Given the description of an element on the screen output the (x, y) to click on. 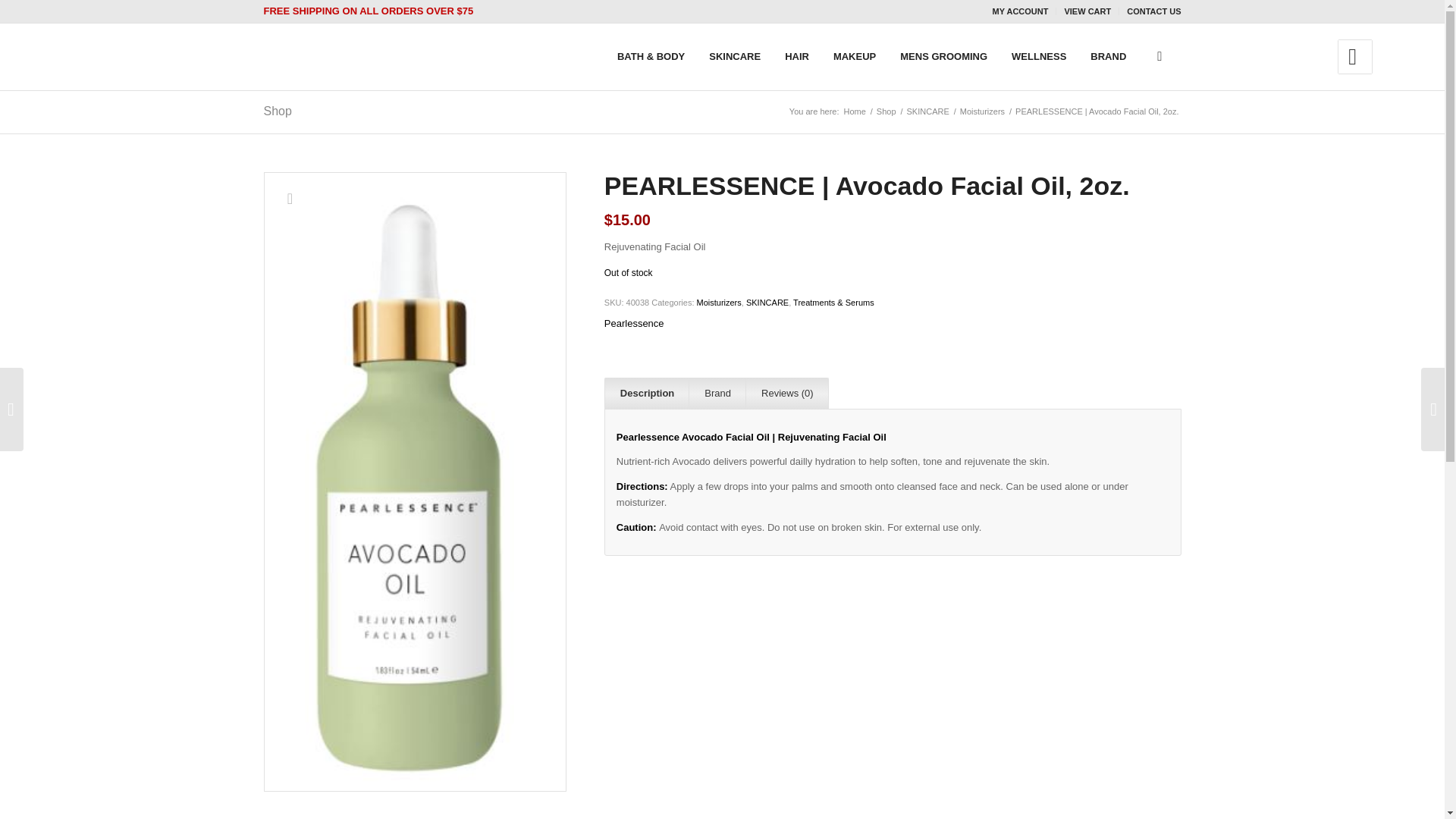
Brand (716, 392)
BRAND (1108, 56)
MAKEUP (854, 56)
Shop (886, 111)
Permanent Link: Shop (277, 110)
SKINCARE (928, 111)
MENS GROOMING (943, 56)
View brand (633, 323)
WELLNESS (1038, 56)
CONTACT US (1153, 11)
